Given the description of an element on the screen output the (x, y) to click on. 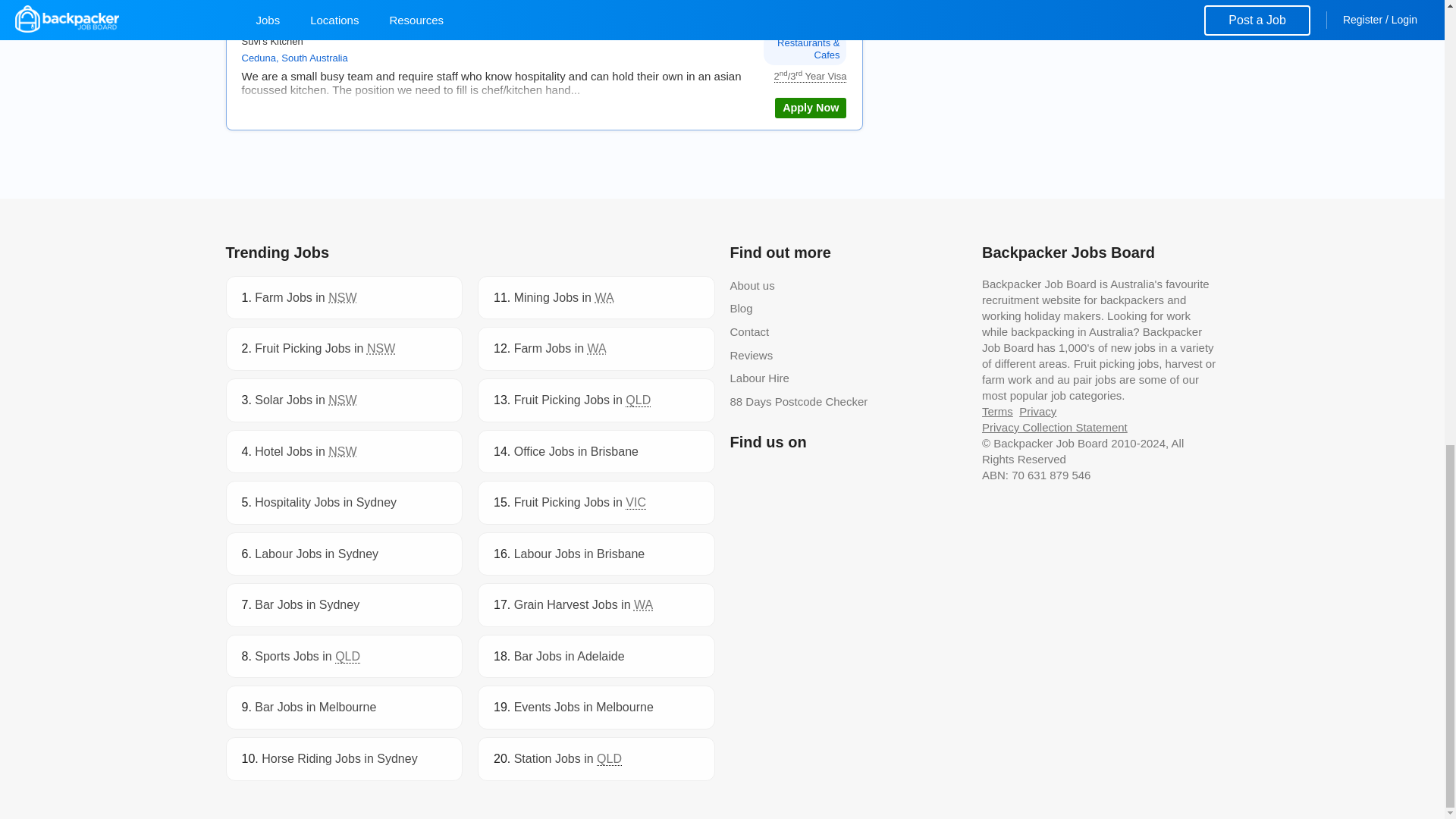
Chef Asian And Sushi (809, 107)
Chef Asian And Sushi (319, 22)
Fruit Picking Jobs in NSW (324, 348)
Apply Now (809, 107)
Farm Jobs in NSW (305, 297)
Chef Asian And Sushi (319, 22)
